Given the description of an element on the screen output the (x, y) to click on. 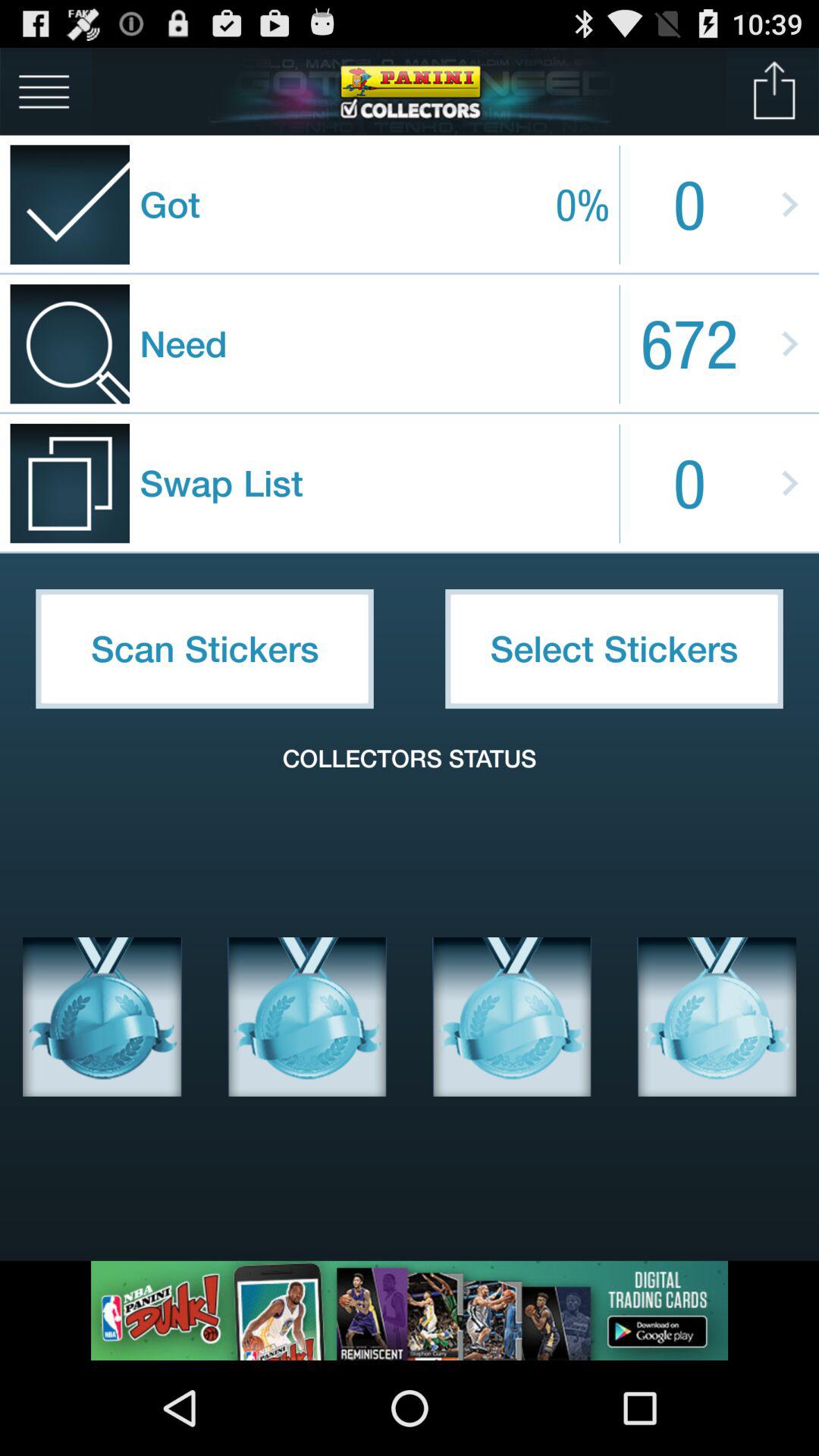
select sticker (306, 1016)
